Given the description of an element on the screen output the (x, y) to click on. 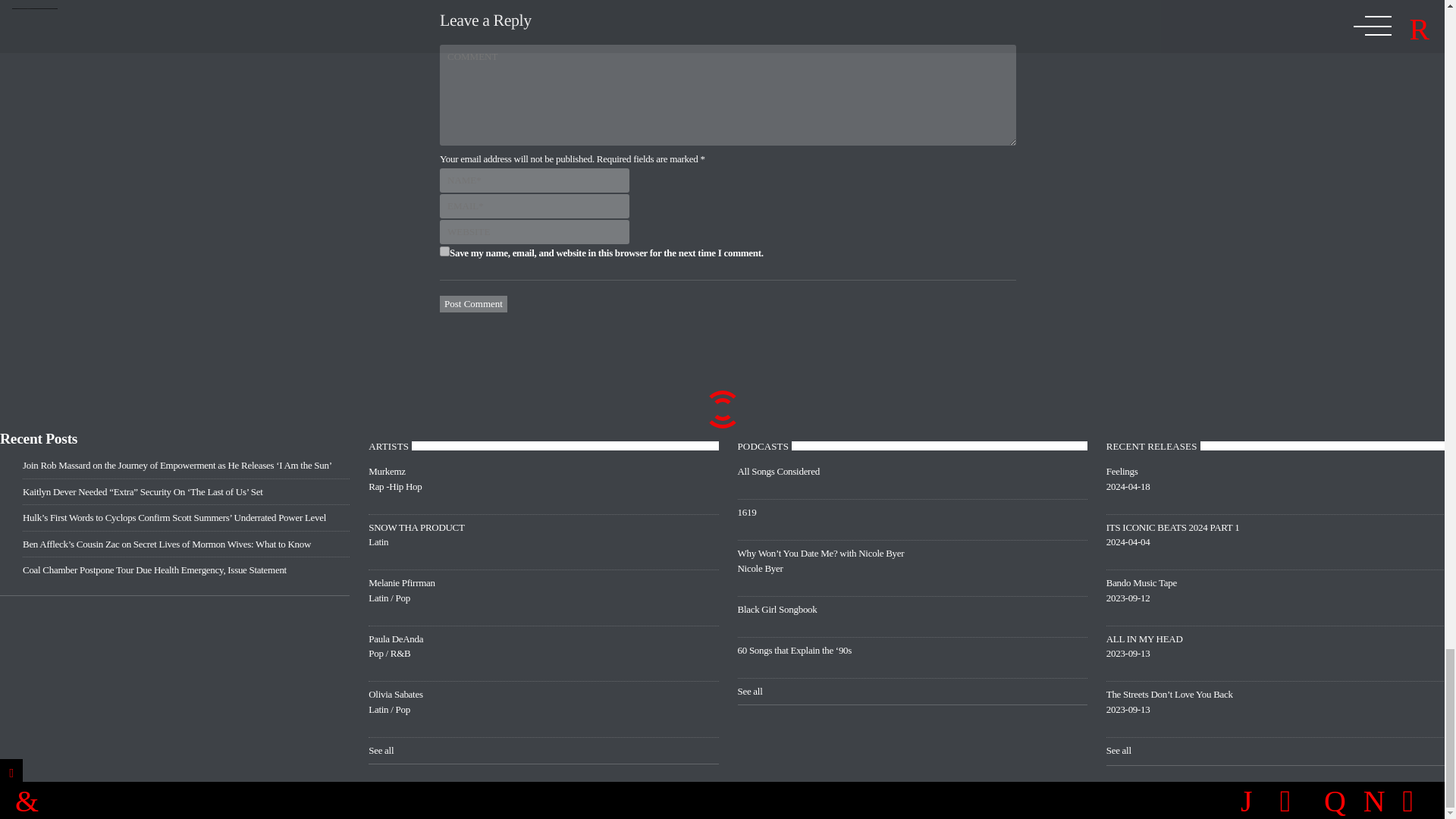
Post Comment (472, 303)
yes (444, 251)
Post Comment (542, 541)
